Given the description of an element on the screen output the (x, y) to click on. 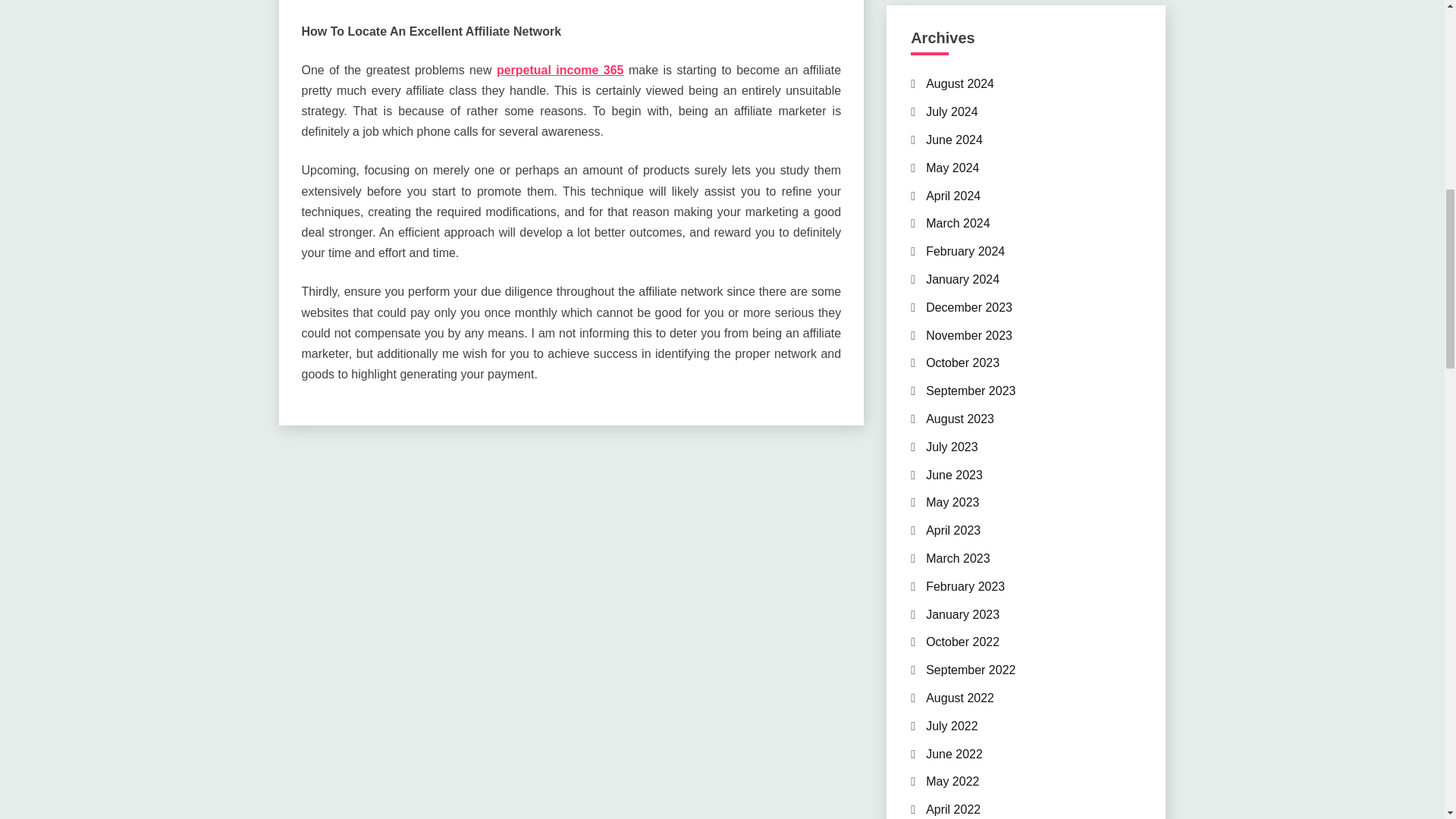
September 2023 (970, 390)
December 2023 (968, 307)
May 2024 (952, 167)
April 2024 (952, 195)
July 2024 (952, 111)
July 2023 (952, 446)
May 2023 (952, 502)
February 2024 (965, 250)
June 2023 (954, 474)
March 2024 (958, 223)
